Given the description of an element on the screen output the (x, y) to click on. 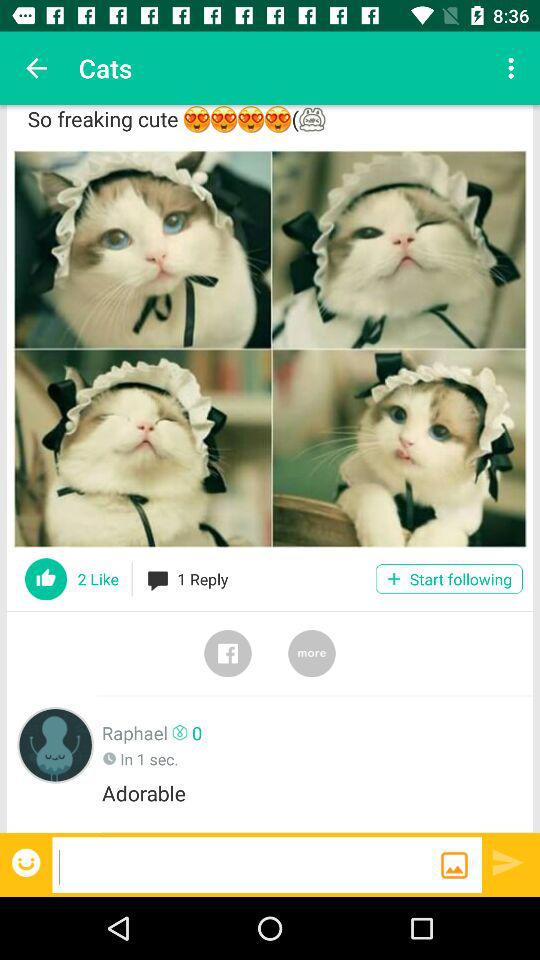
go arrow option (508, 862)
